Given the description of an element on the screen output the (x, y) to click on. 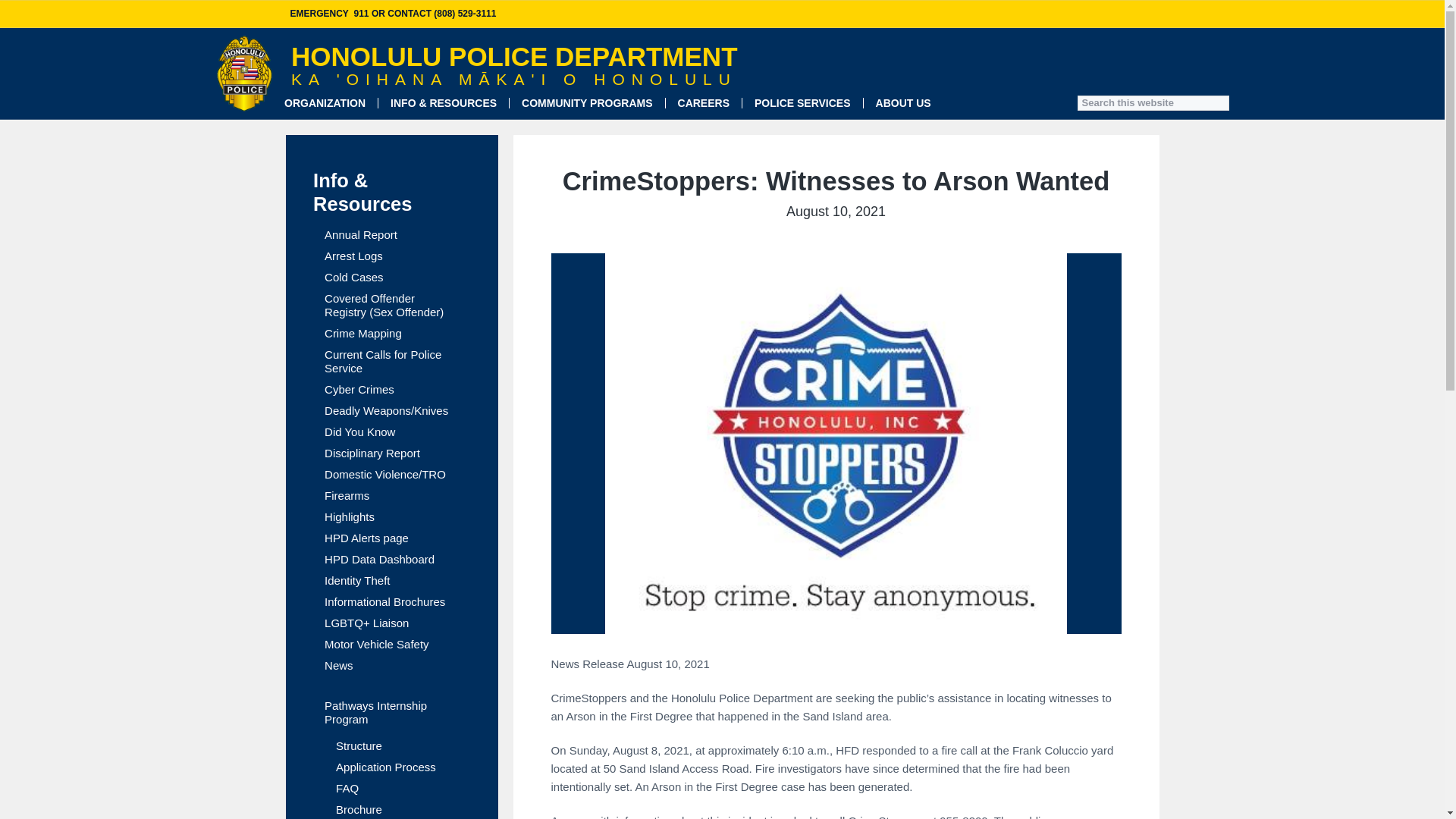
POLICE SERVICES (802, 103)
Arrest Logs (353, 255)
Cyber Crimes (359, 389)
Did You Know (359, 431)
Annual Report (360, 234)
Informational Brochures (384, 602)
HPD Alerts page (366, 538)
ABOUT US (903, 103)
911 (361, 13)
Cold Cases (354, 277)
